Given the description of an element on the screen output the (x, y) to click on. 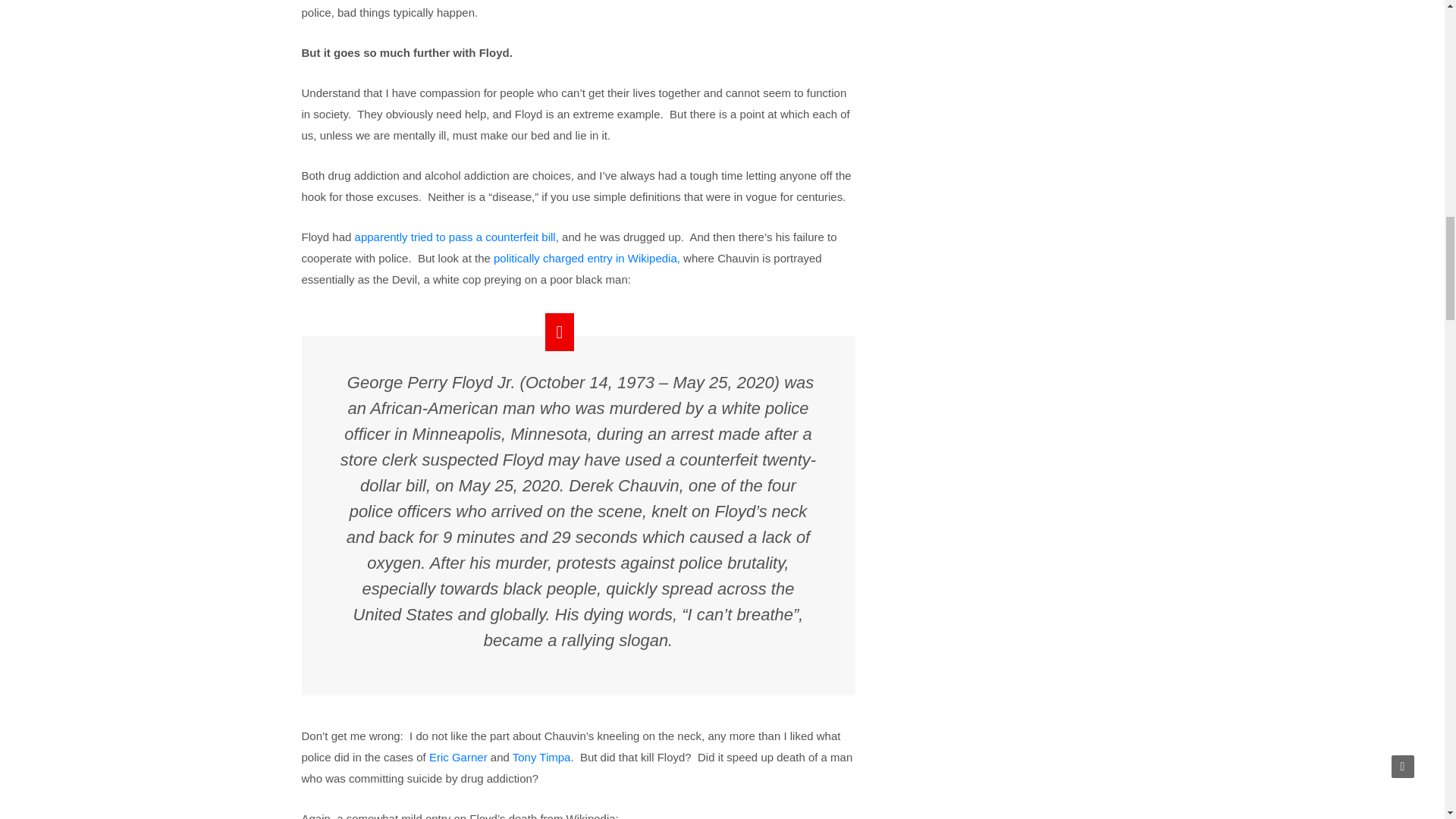
Eric Garner (458, 757)
politically charged entry in Wikipedia, (586, 257)
Tony Timpa (541, 757)
apparently tried to pass a counterfeit bill (455, 236)
